Given the description of an element on the screen output the (x, y) to click on. 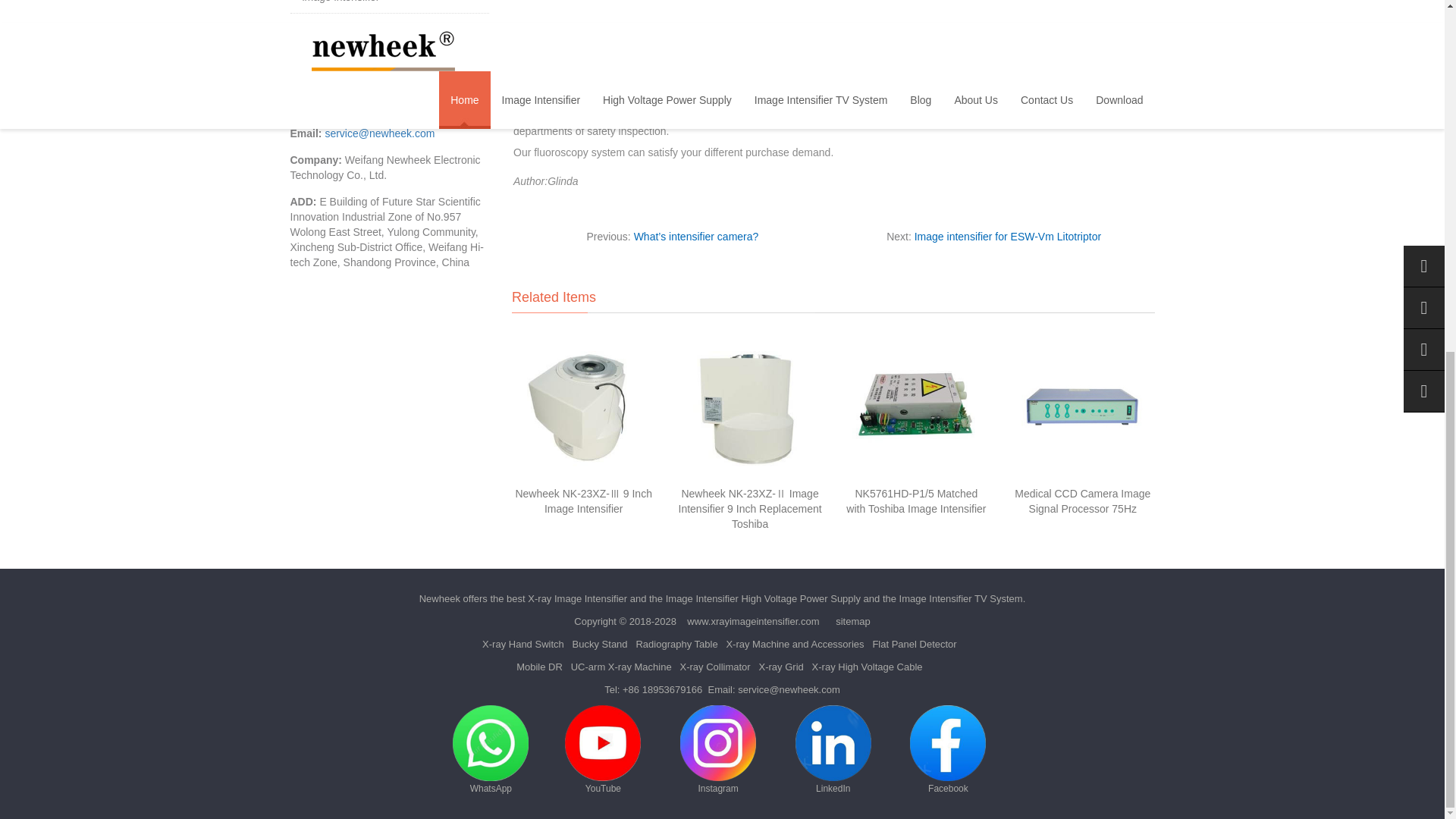
Medical CCD Camera Image Signal Processor 75Hz (1082, 501)
Medical CCD Camera Image Signal Processor 75Hz (1082, 501)
Image intensifier for ESW-Vm Litotriptor (1007, 236)
 High-voltage power supply for C-arm image intensifier (387, 1)
High-voltage power supply for C-arm image intensifier (387, 1)
